Given the description of an element on the screen output the (x, y) to click on. 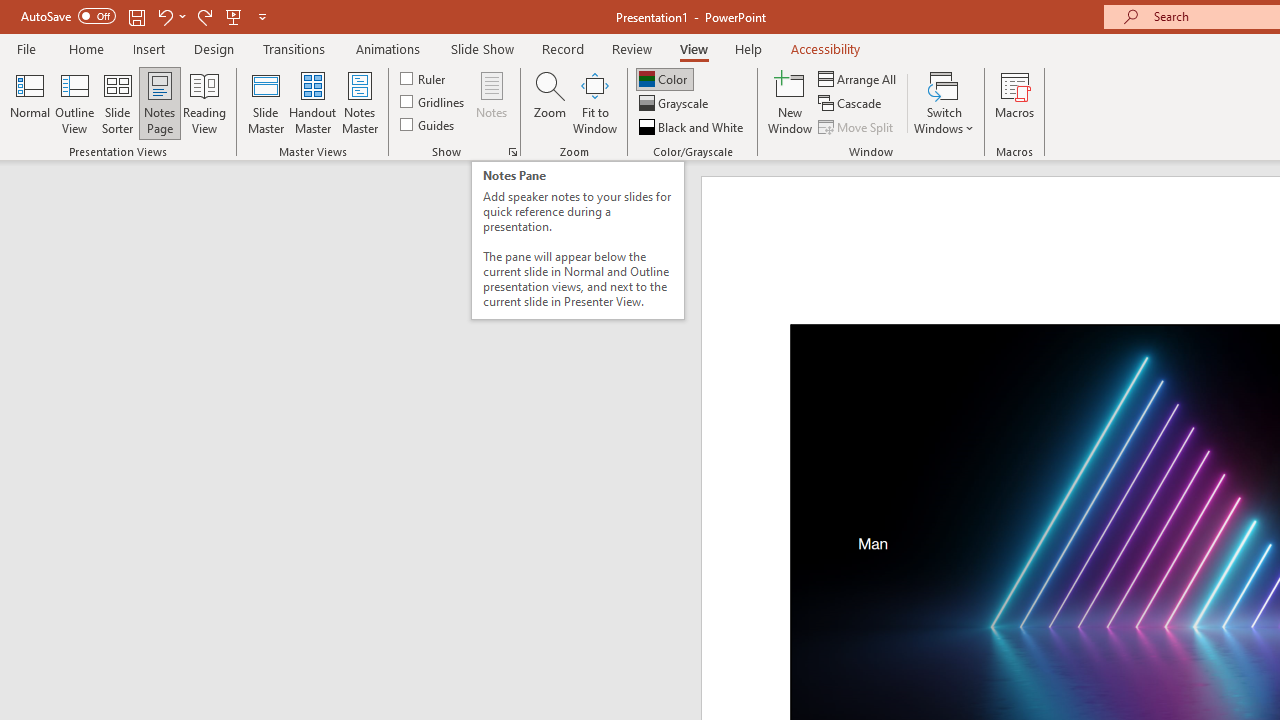
Notes (492, 102)
Color (664, 78)
Grid Settings... (512, 151)
Switch Windows (943, 102)
Outline View (74, 102)
Arrange All (858, 78)
